Given the description of an element on the screen output the (x, y) to click on. 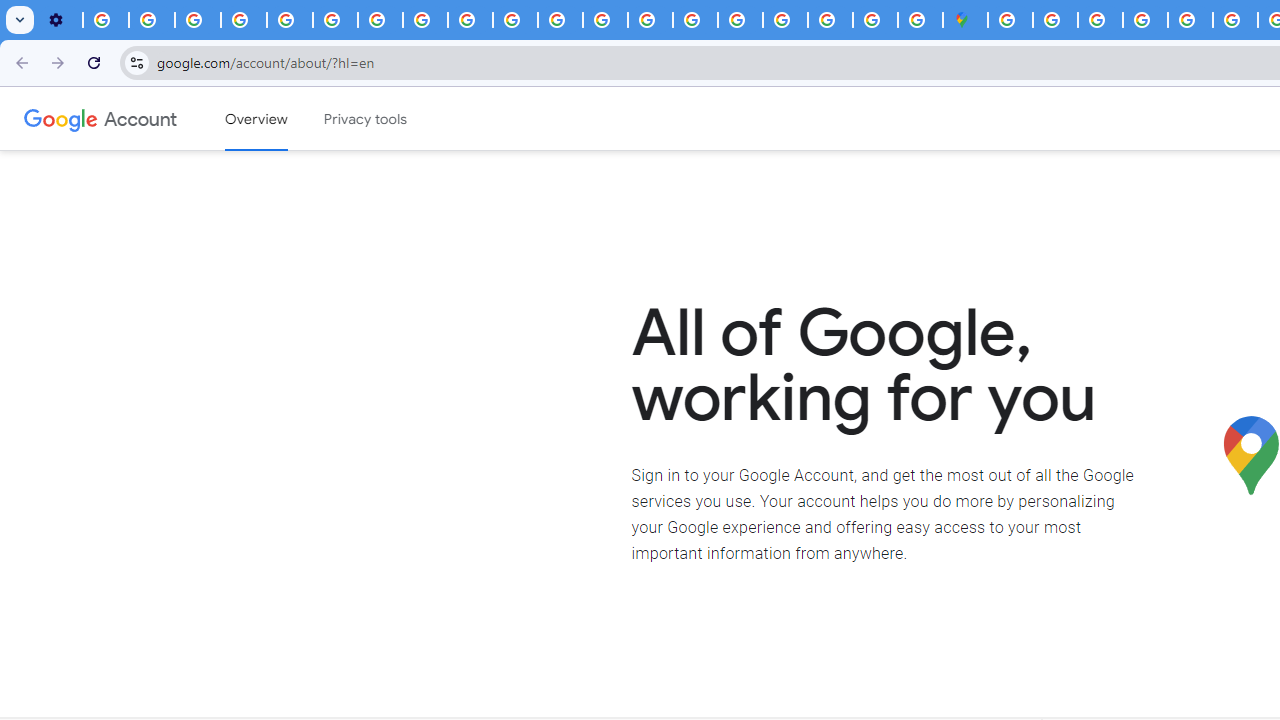
Terms and Conditions (1190, 20)
Delete photos & videos - Computer - Google Photos Help (106, 20)
YouTube (335, 20)
Privacy Checkup (514, 20)
Skip to Content (285, 115)
Google Account Help (244, 20)
Privacy Help Center - Policies Help (605, 20)
Sign in - Google Accounts (1010, 20)
Google Maps (965, 20)
Google Account overview (256, 119)
